Given the description of an element on the screen output the (x, y) to click on. 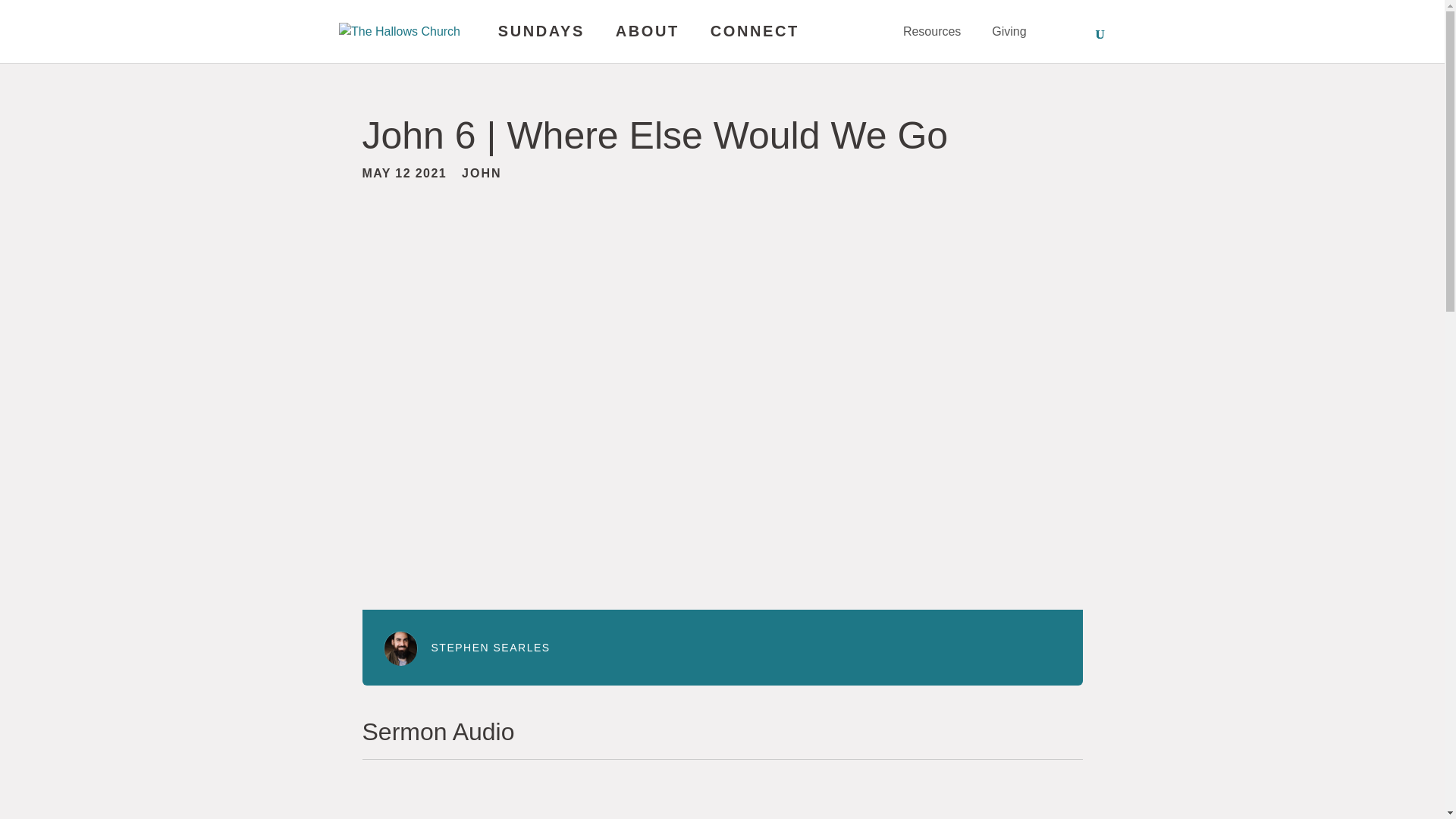
SUNDAYS (548, 42)
STEPHEN SEARLES (490, 647)
Giving (1008, 42)
CONNECT (761, 42)
ABOUT (654, 42)
Resources (938, 42)
